Given the description of an element on the screen output the (x, y) to click on. 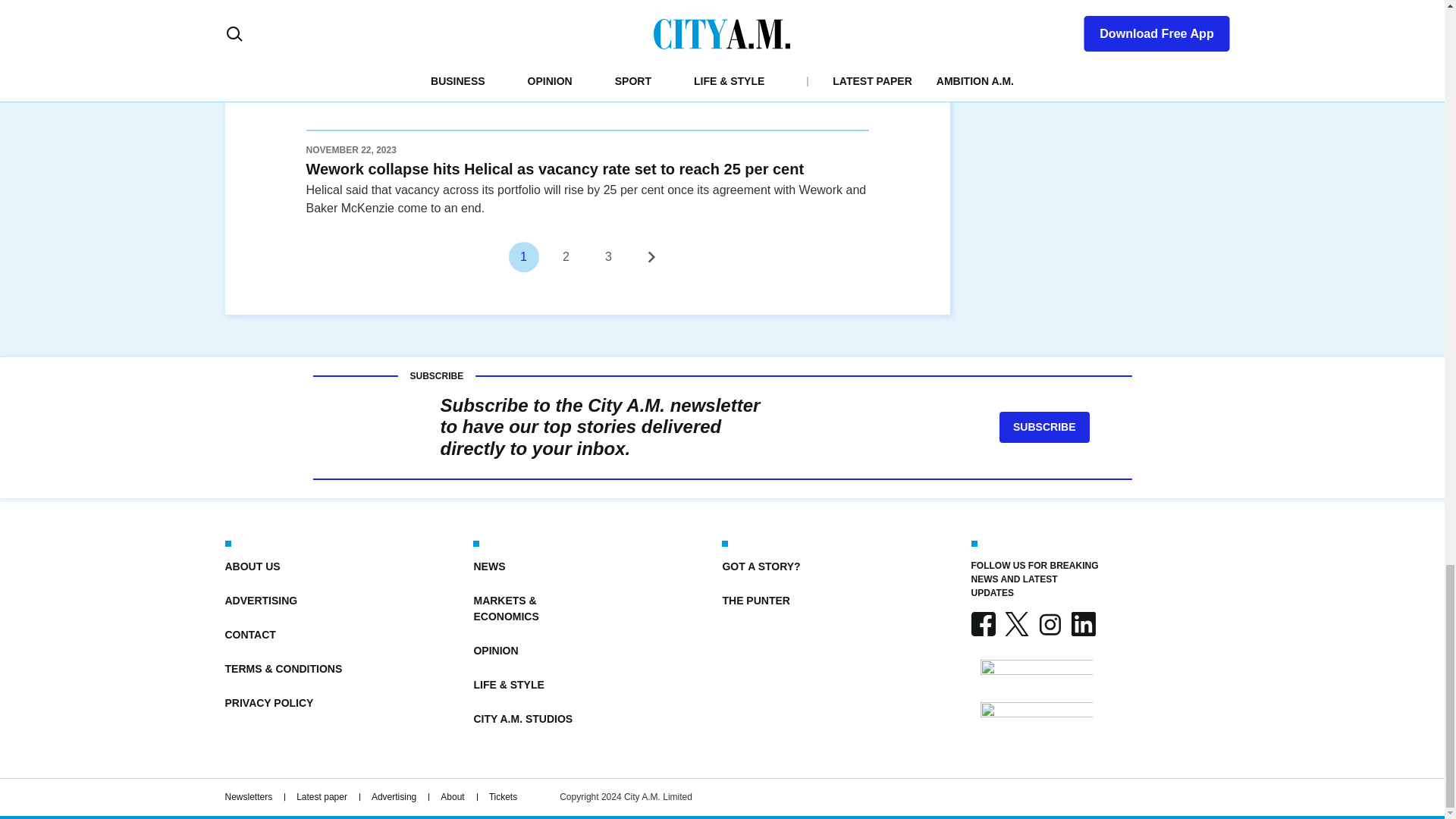
INSTAGRAM (1048, 623)
LINKEDIN (1082, 623)
FACEBOOK (982, 623)
X (1015, 623)
